Given the description of an element on the screen output the (x, y) to click on. 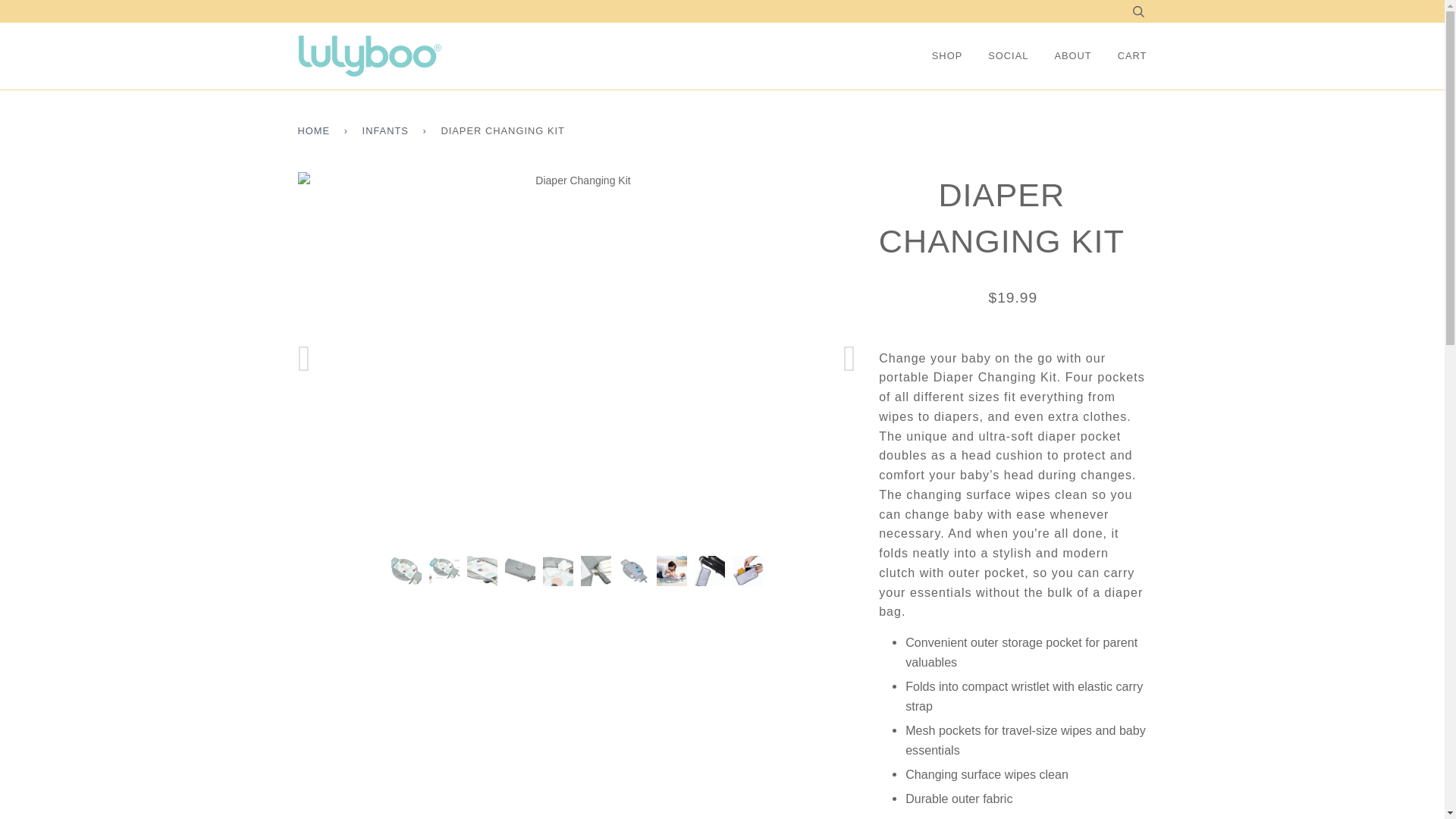
SOCIAL (996, 56)
CART (1120, 56)
ABOUT (1060, 56)
Back to the frontpage (315, 131)
